Given the description of an element on the screen output the (x, y) to click on. 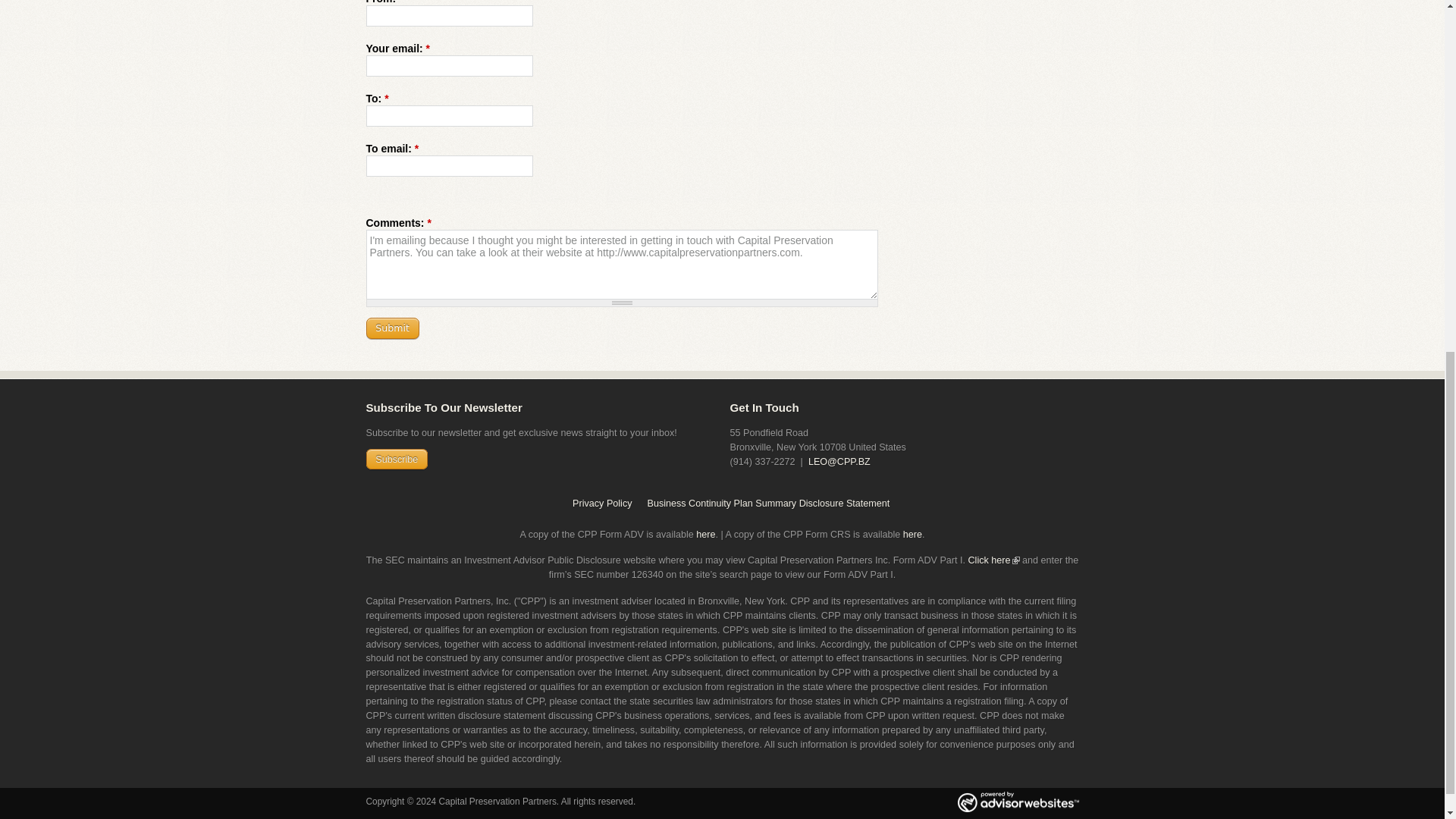
Click here (989, 560)
Submit (392, 328)
Privacy Policy (605, 503)
Business Continuity Plan Summary Disclosure Statement (764, 503)
Get your own AdvisorWebsites.com website (1017, 802)
here (911, 534)
Subscribe (396, 458)
Submit (392, 328)
here (704, 534)
Tell a Friend (994, 5)
